Given the description of an element on the screen output the (x, y) to click on. 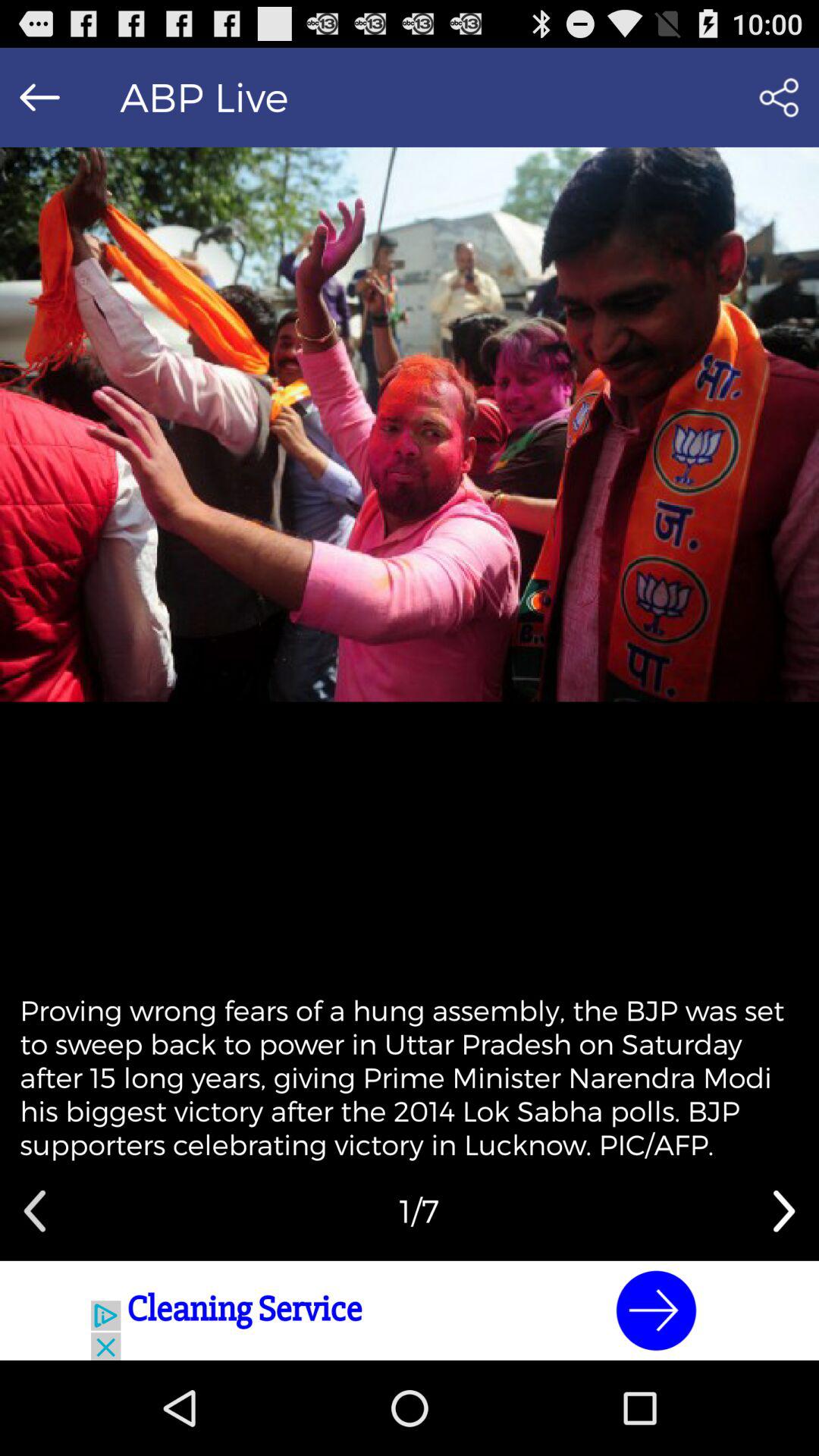
backe (39, 97)
